Given the description of an element on the screen output the (x, y) to click on. 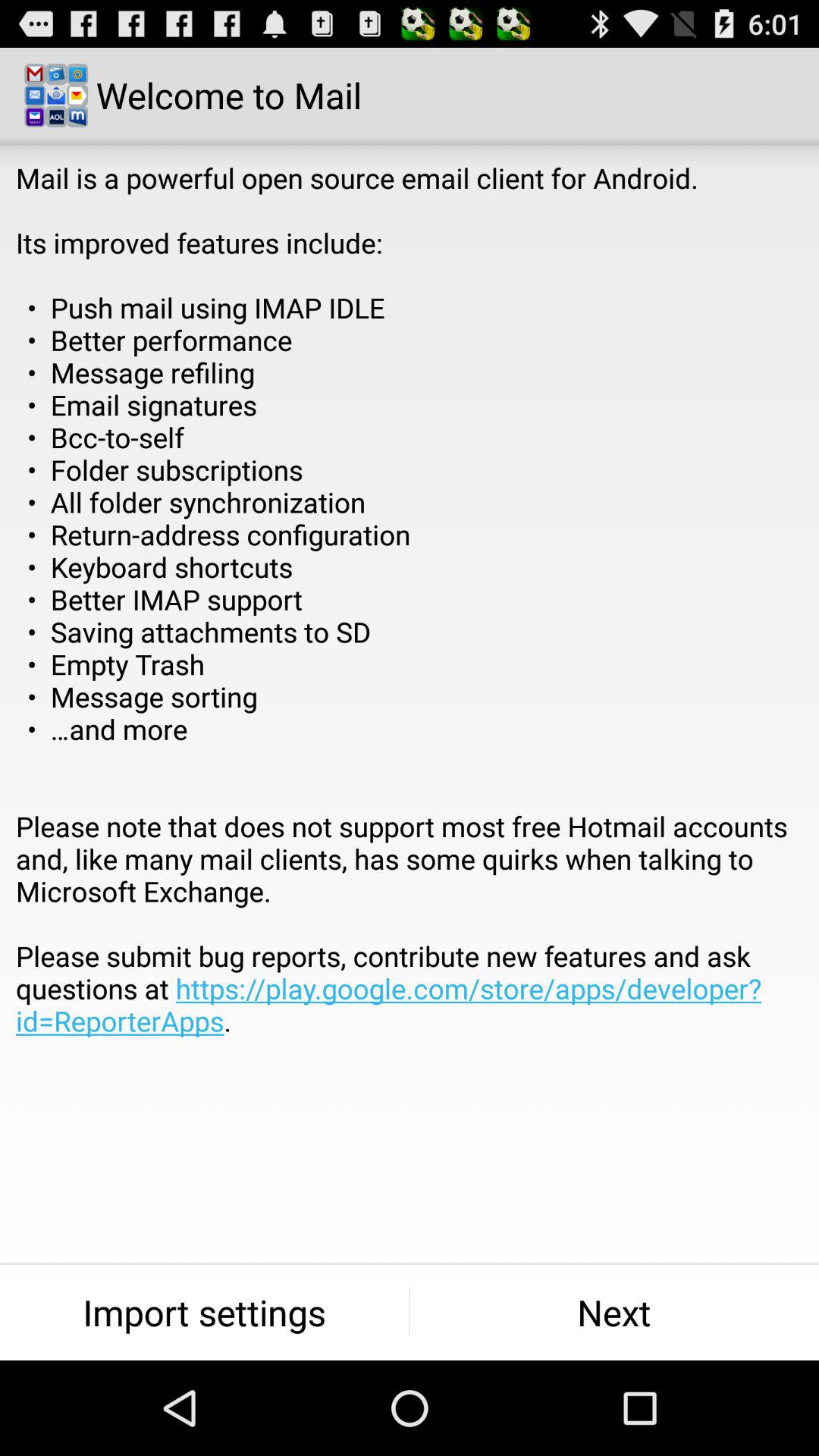
choose the icon next to the import settings item (614, 1312)
